Given the description of an element on the screen output the (x, y) to click on. 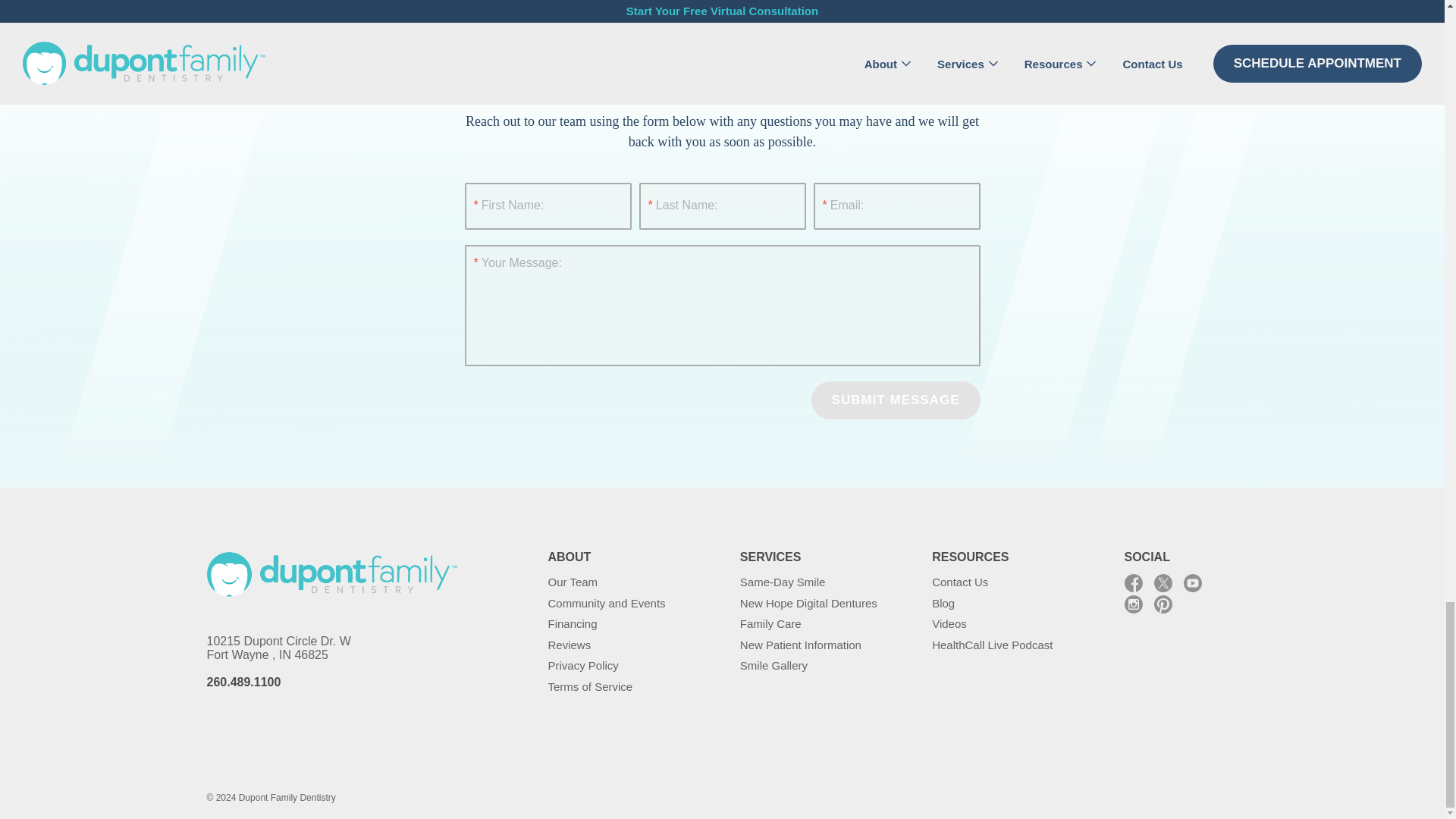
Like us on Facebook (1132, 583)
Follow us on Pinterest (1163, 604)
Submit Message (894, 400)
Quality Dental Care Provided by Dupont Family Dentistry (331, 574)
Follow us on X (1163, 583)
Subscribe to us on YouTube (1191, 583)
Follow us on Instagram (1132, 604)
